Given the description of an element on the screen output the (x, y) to click on. 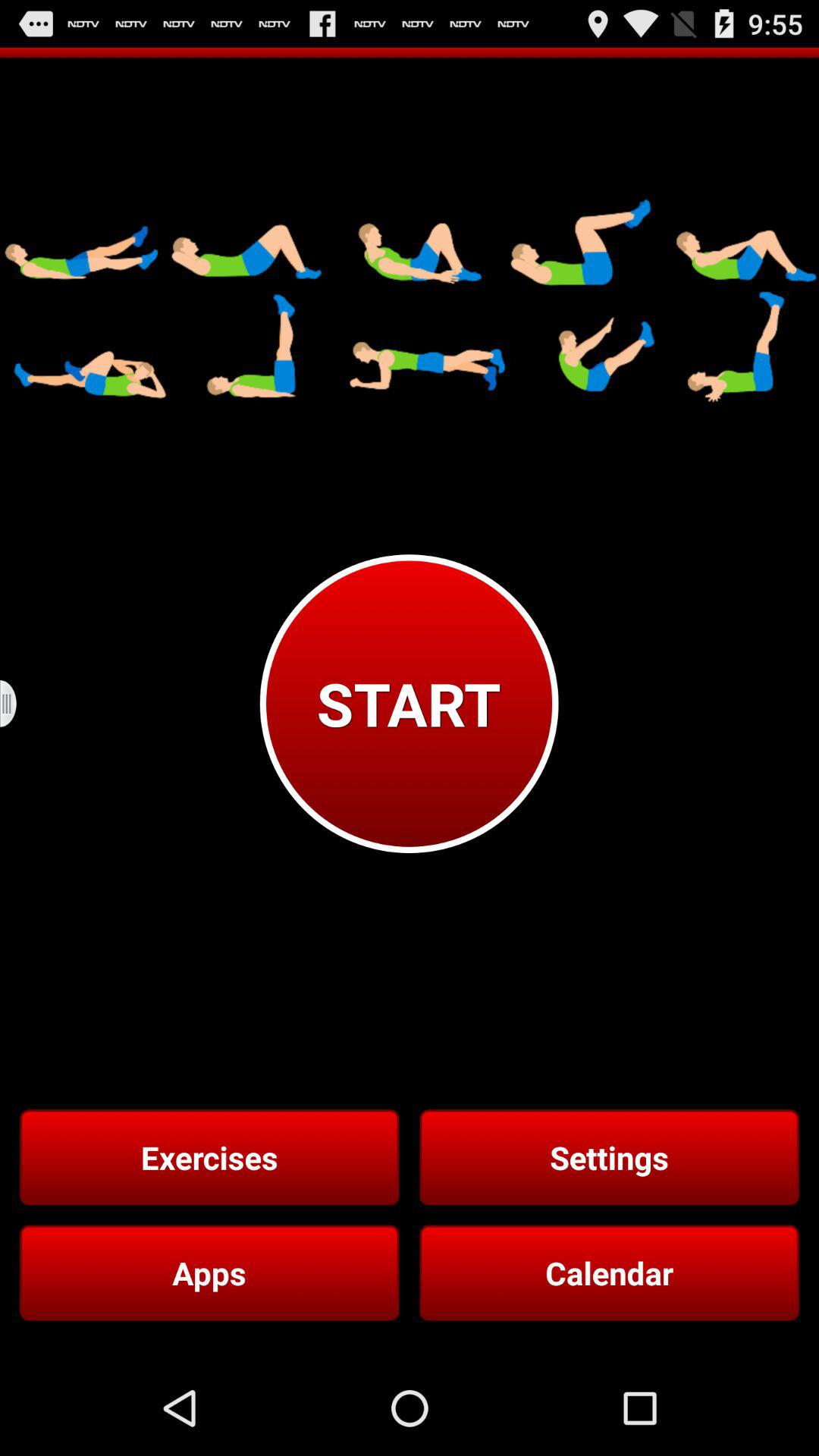
choose item to the left of the settings button (209, 1157)
